Given the description of an element on the screen output the (x, y) to click on. 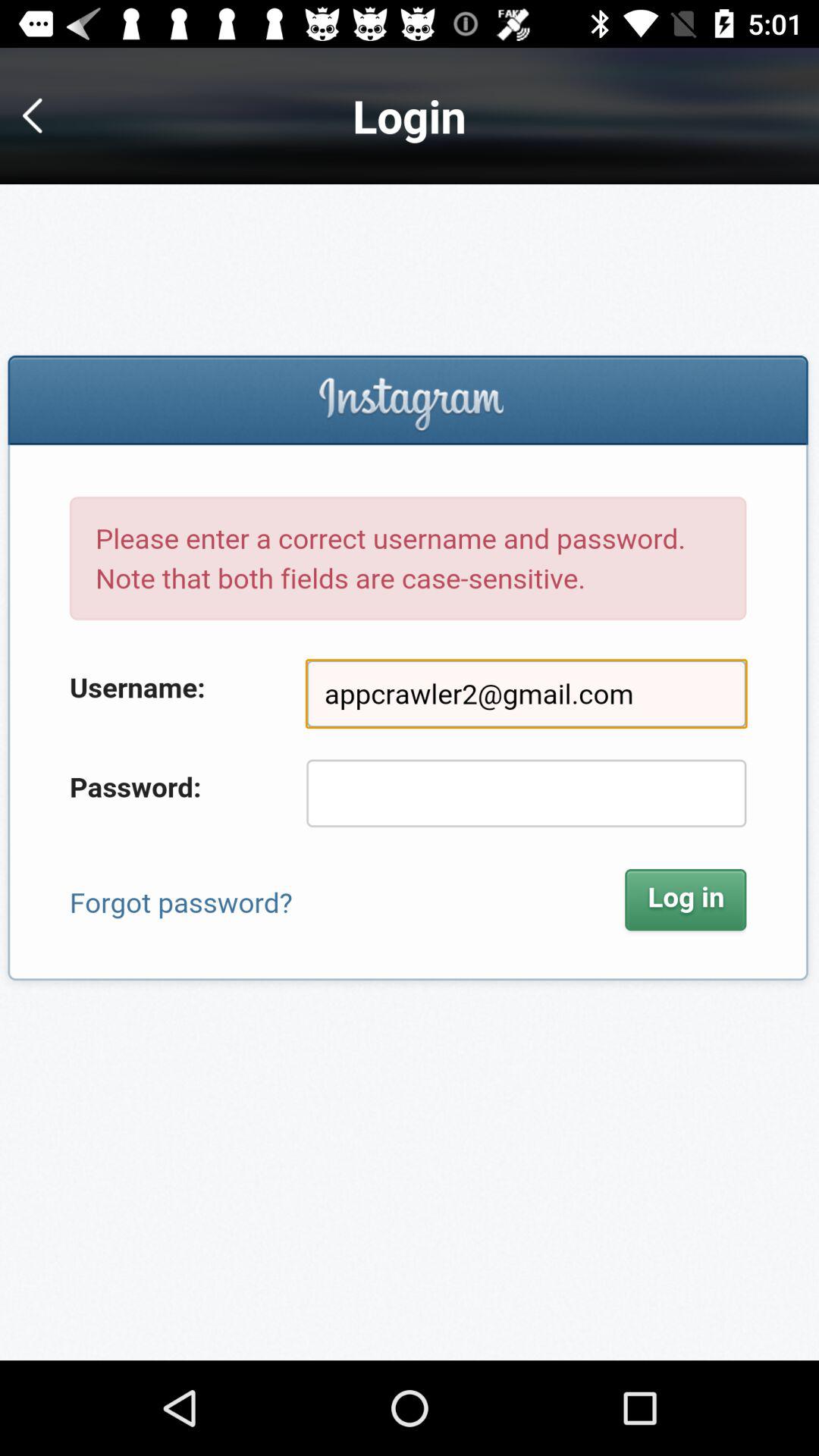
password (409, 772)
